Given the description of an element on the screen output the (x, y) to click on. 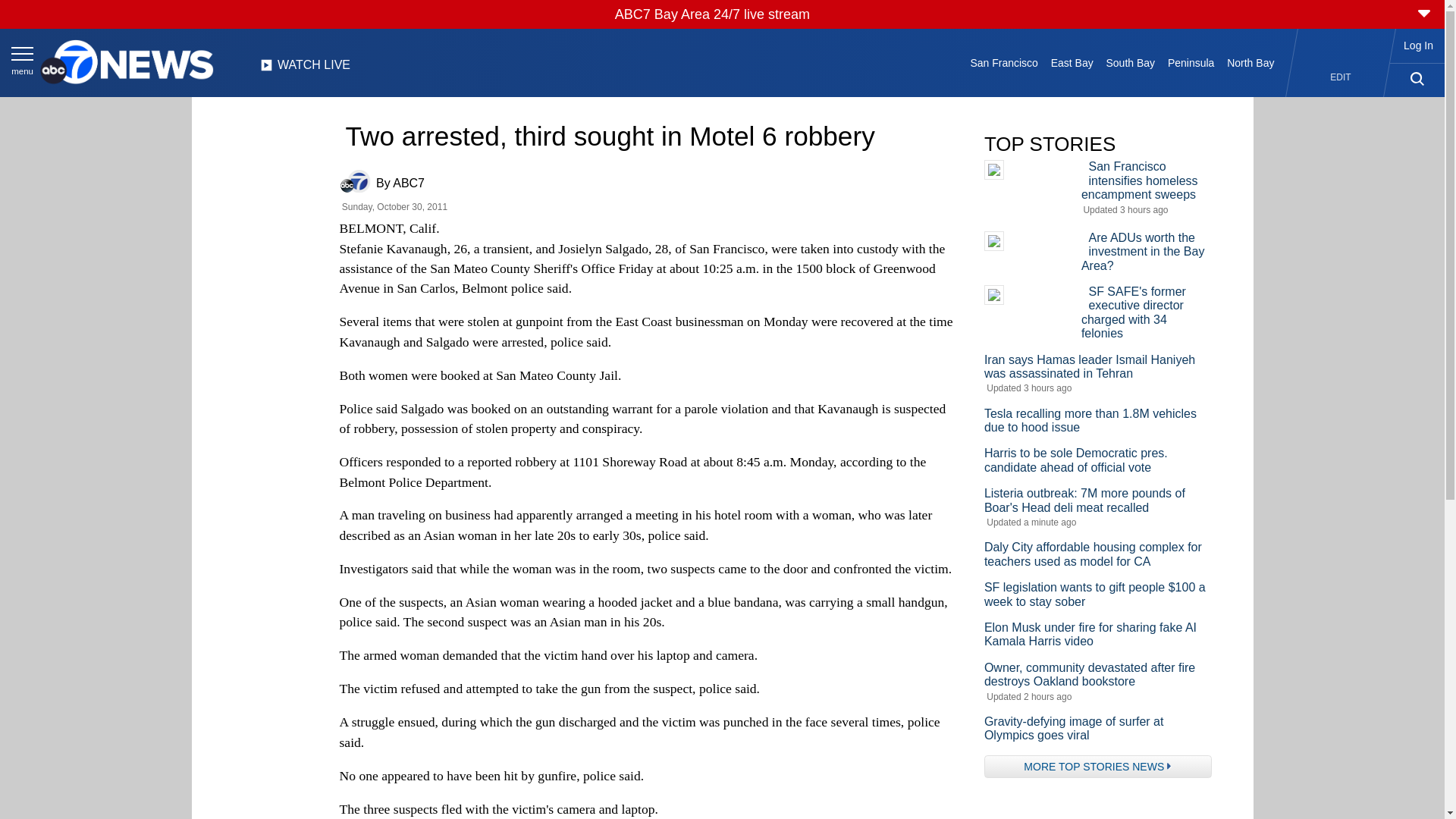
WATCH LIVE (305, 69)
San Francisco (1003, 62)
North Bay (1251, 62)
South Bay (1129, 62)
EDIT (1340, 77)
East Bay (1071, 62)
Peninsula (1191, 62)
